Given the description of an element on the screen output the (x, y) to click on. 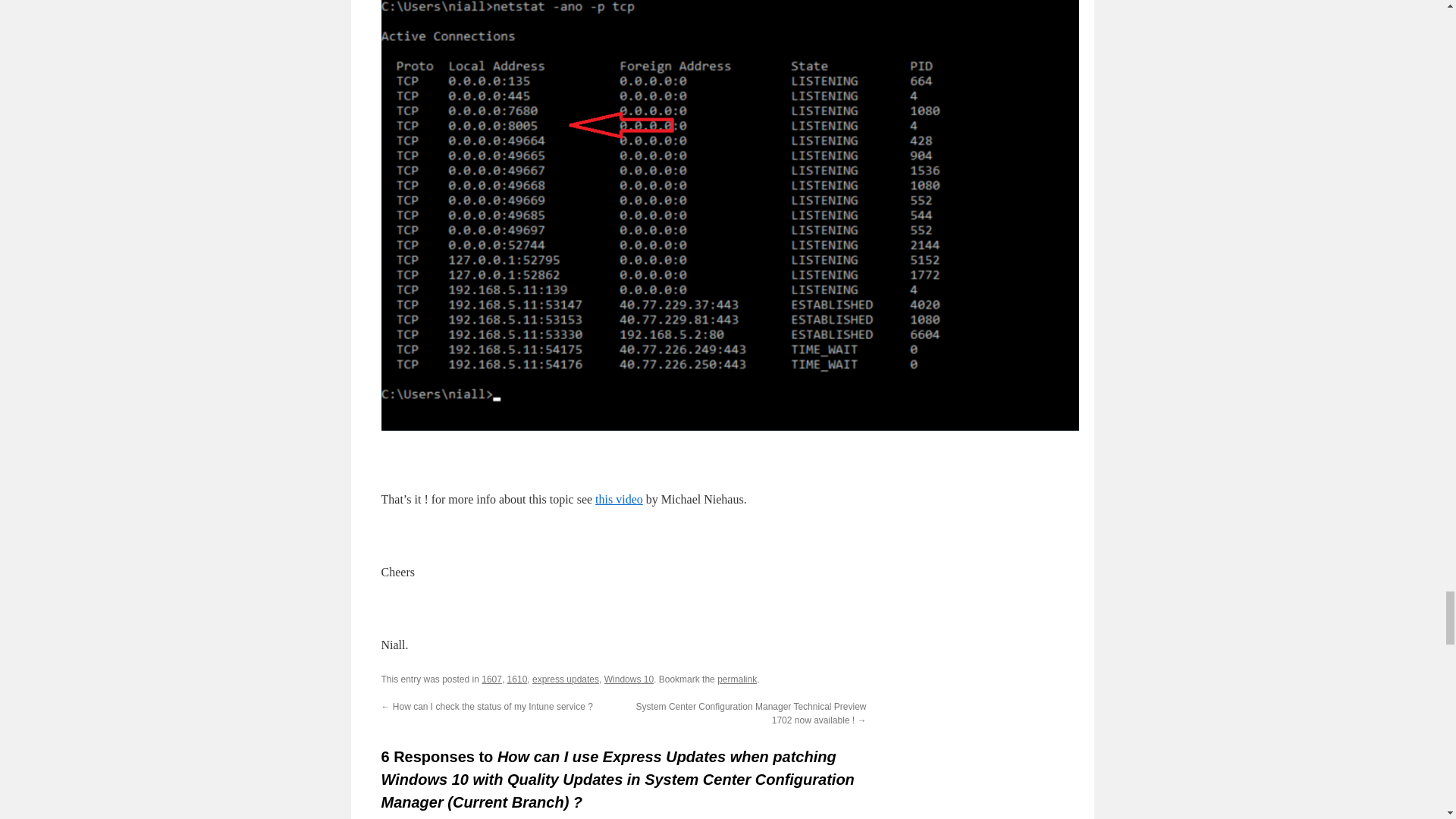
1607 (491, 679)
this video (619, 499)
Windows 10 (628, 679)
1610 (516, 679)
permalink (737, 679)
express updates (565, 679)
